Given the description of an element on the screen output the (x, y) to click on. 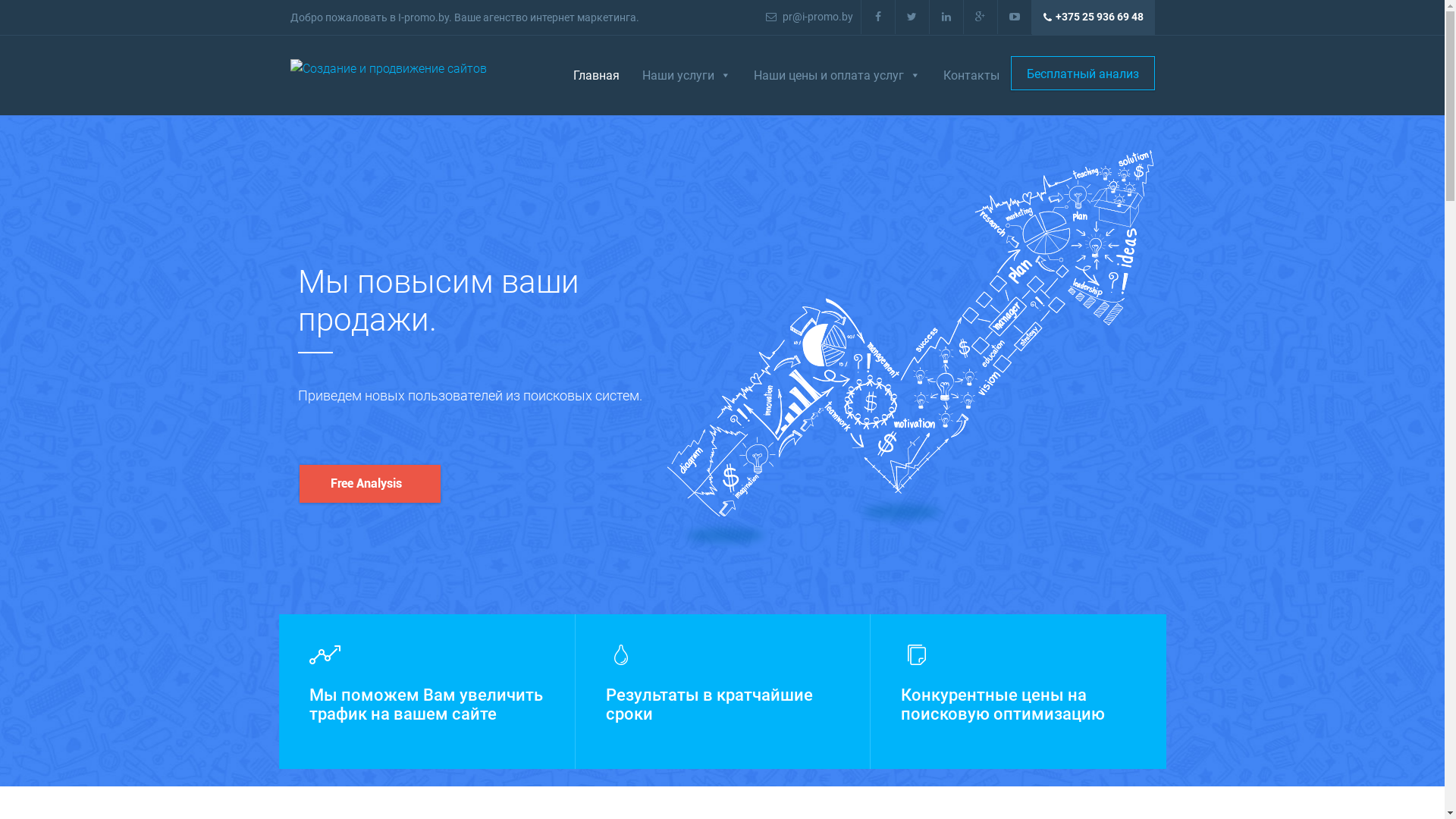
google-plus Element type: hover (980, 17)
linkedin Element type: hover (946, 17)
twitter Element type: hover (911, 17)
youtube-play Element type: hover (1014, 17)
pr@i-promo.by Element type: text (809, 17)
facebook Element type: hover (878, 17)
+375 25 936 69 48 Element type: text (1092, 17)
